Given the description of an element on the screen output the (x, y) to click on. 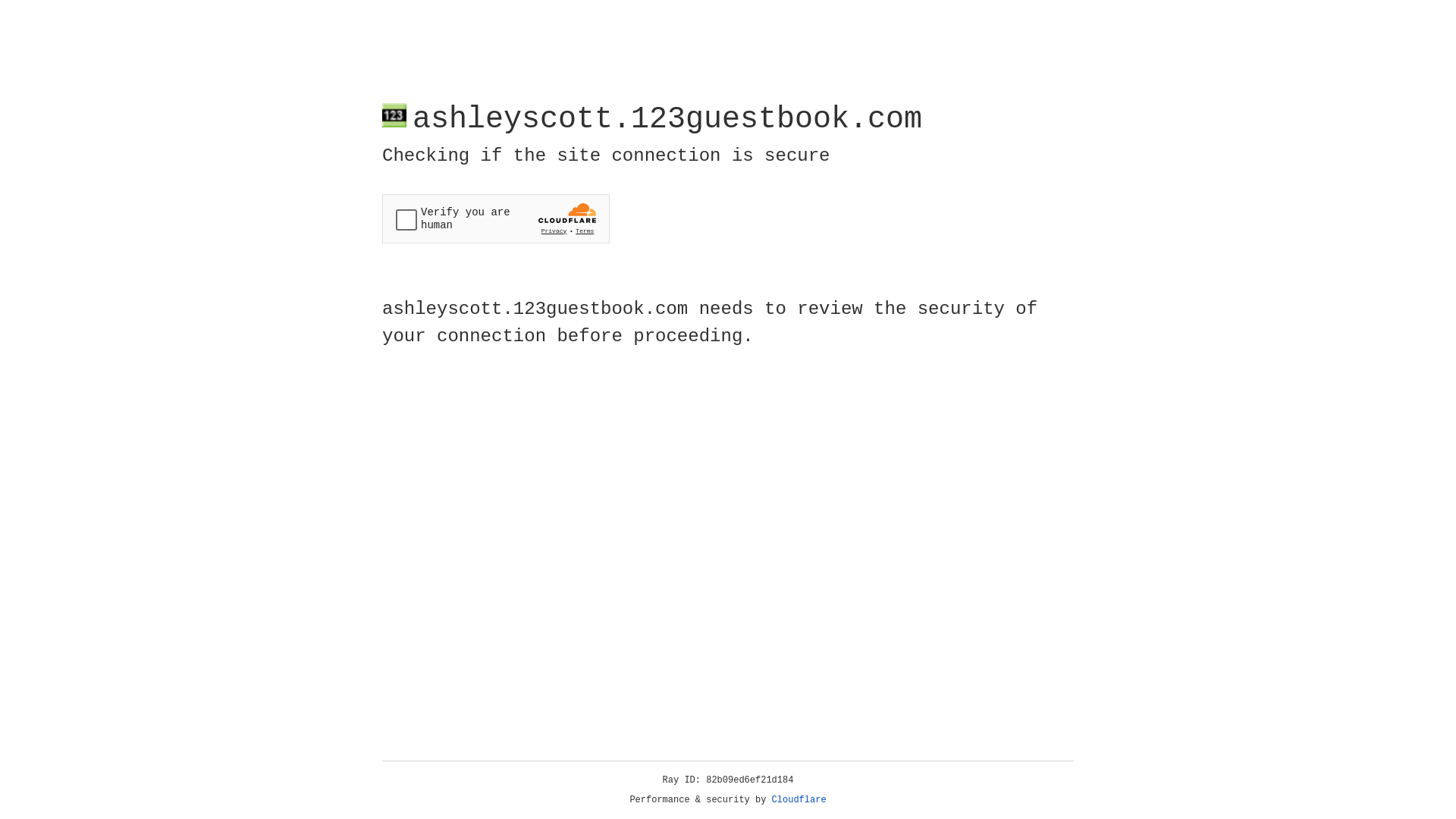
Cloudflare Element type: text (798, 799)
Widget containing a Cloudflare security challenge Element type: hover (495, 218)
